Given the description of an element on the screen output the (x, y) to click on. 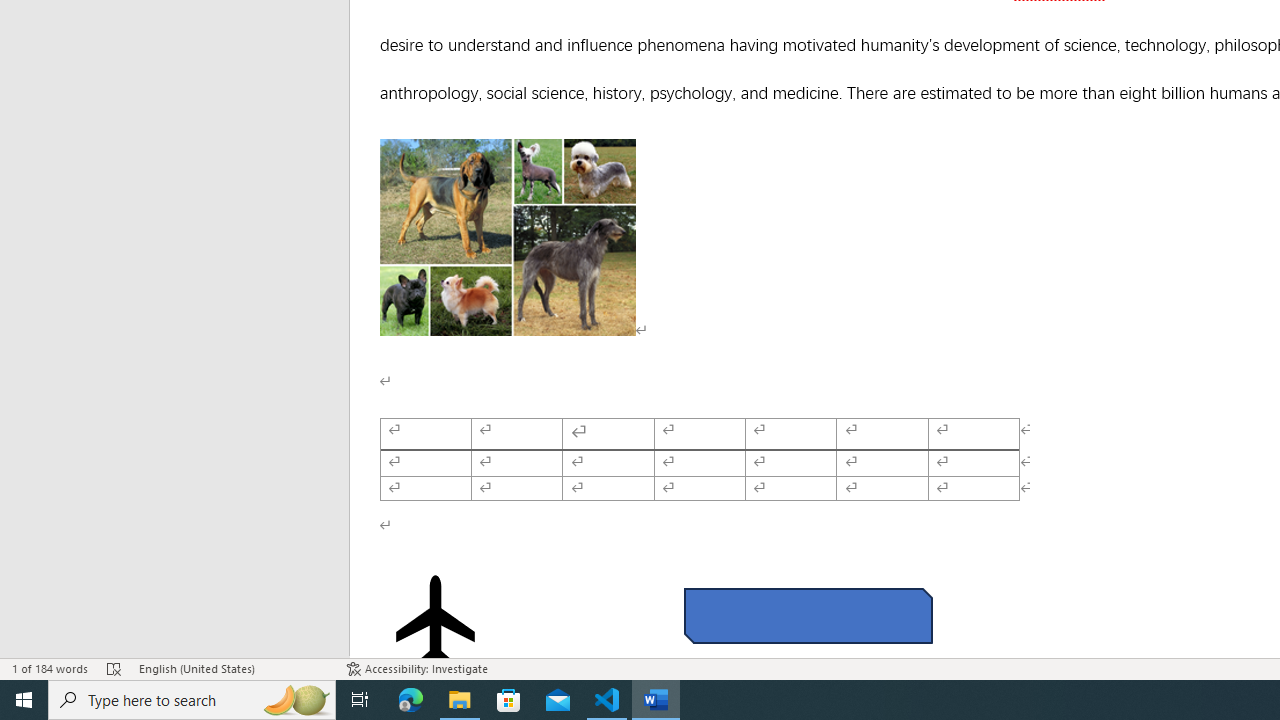
Rectangle: Diagonal Corners Snipped 2 (808, 615)
